Given the description of an element on the screen output the (x, y) to click on. 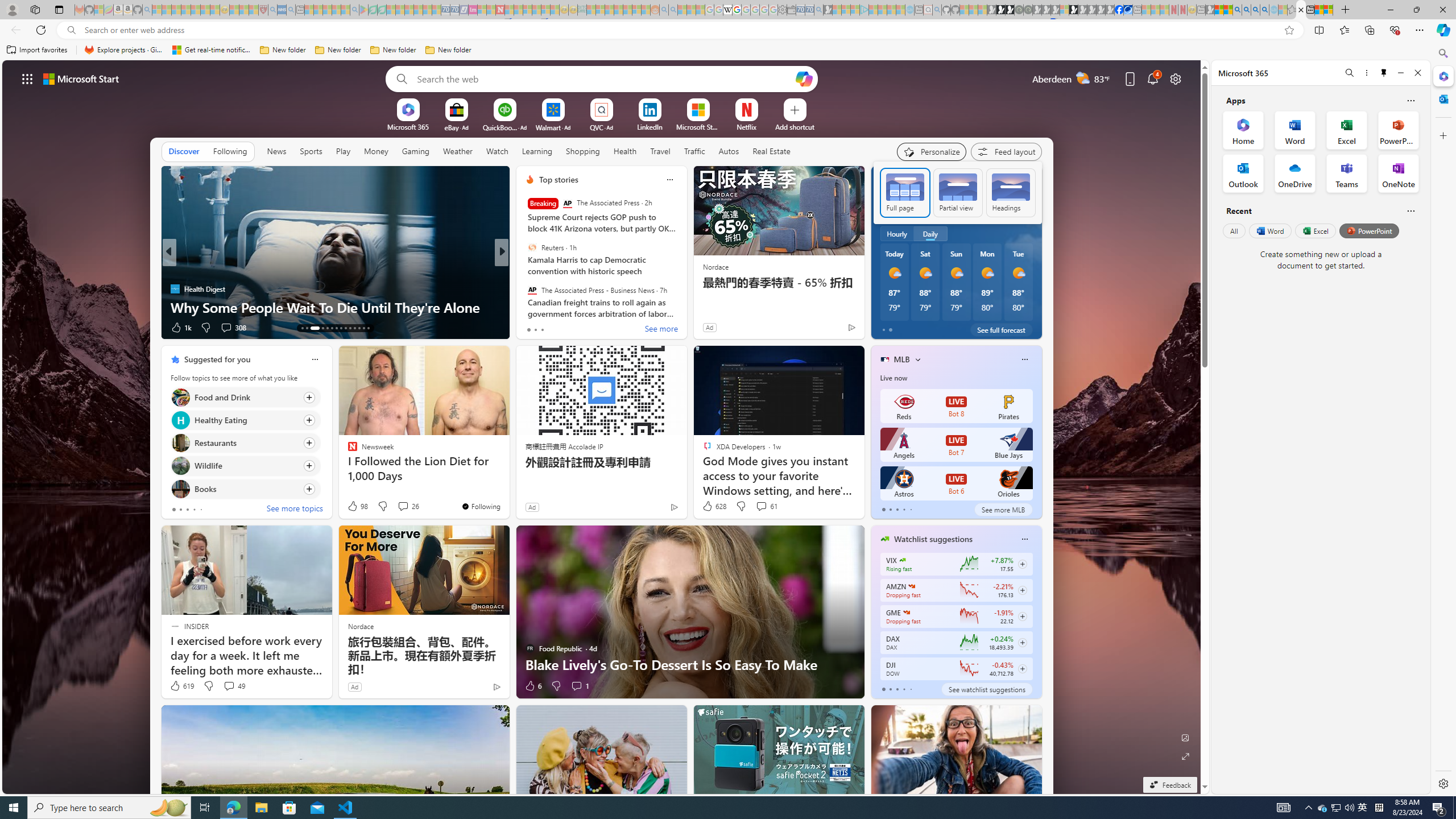
Microsoft Start Gaming - Sleeping (827, 9)
628 Like (713, 505)
Bluey: Let's Play! - Apps on Google Play - Sleeping (362, 9)
PowerPoint Office App (1398, 129)
Lucy Diamond (524, 288)
AutomationID: tab-20 (340, 328)
Expand background (1185, 756)
Sports (310, 151)
Angels LIVE Bot 7 Blue Jays (955, 444)
Nordace | Facebook (1118, 9)
